Given the description of an element on the screen output the (x, y) to click on. 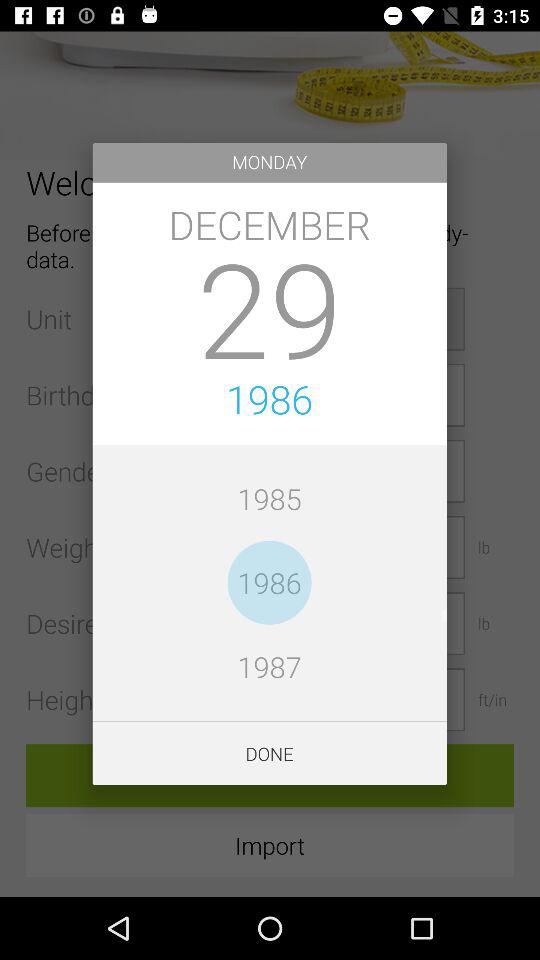
swipe until done (269, 753)
